Given the description of an element on the screen output the (x, y) to click on. 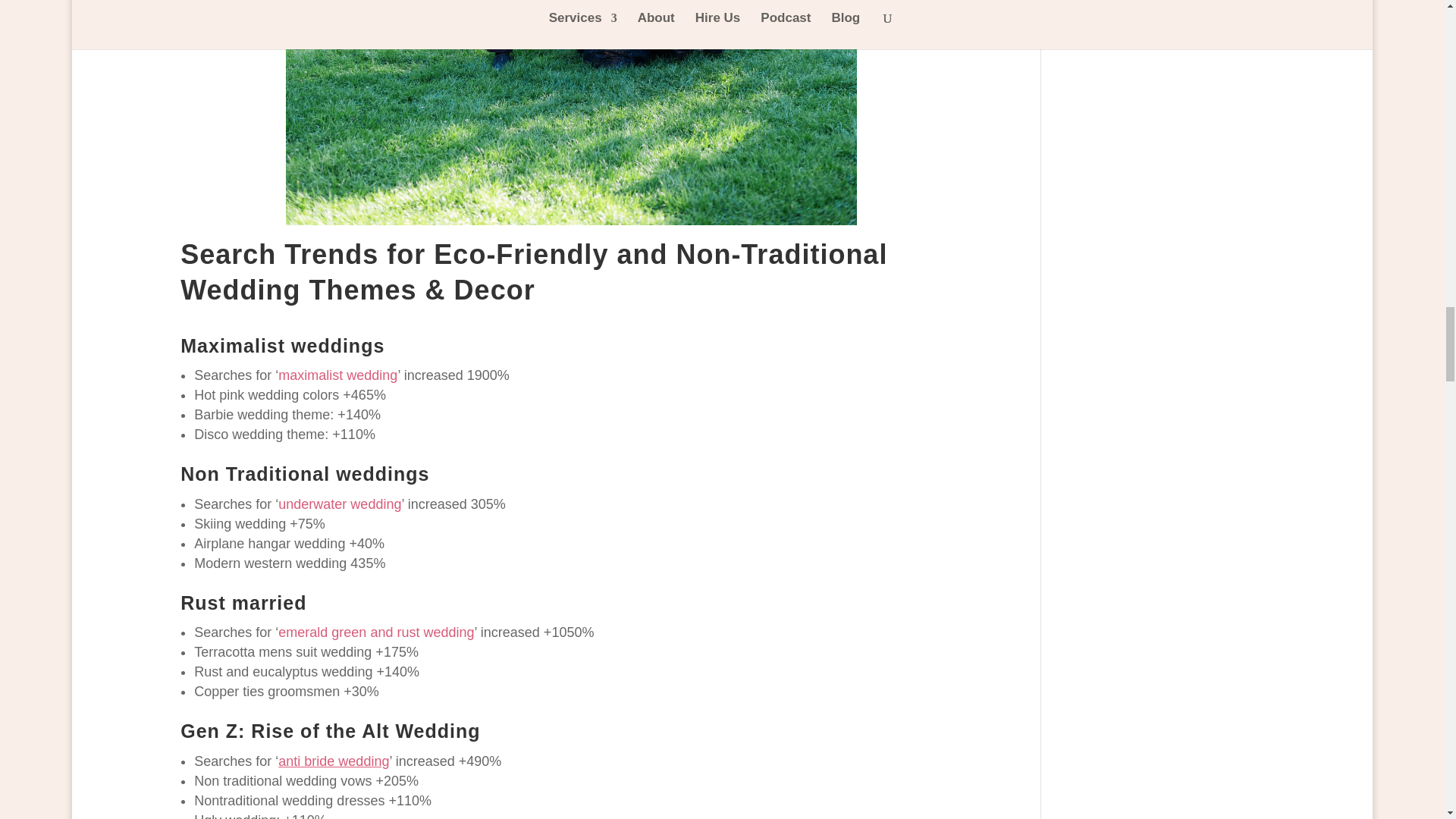
underwater wedding (339, 503)
anti bride wedding (333, 761)
maximalist wedding (337, 375)
emerald green and rust wedding (376, 631)
